Given the description of an element on the screen output the (x, y) to click on. 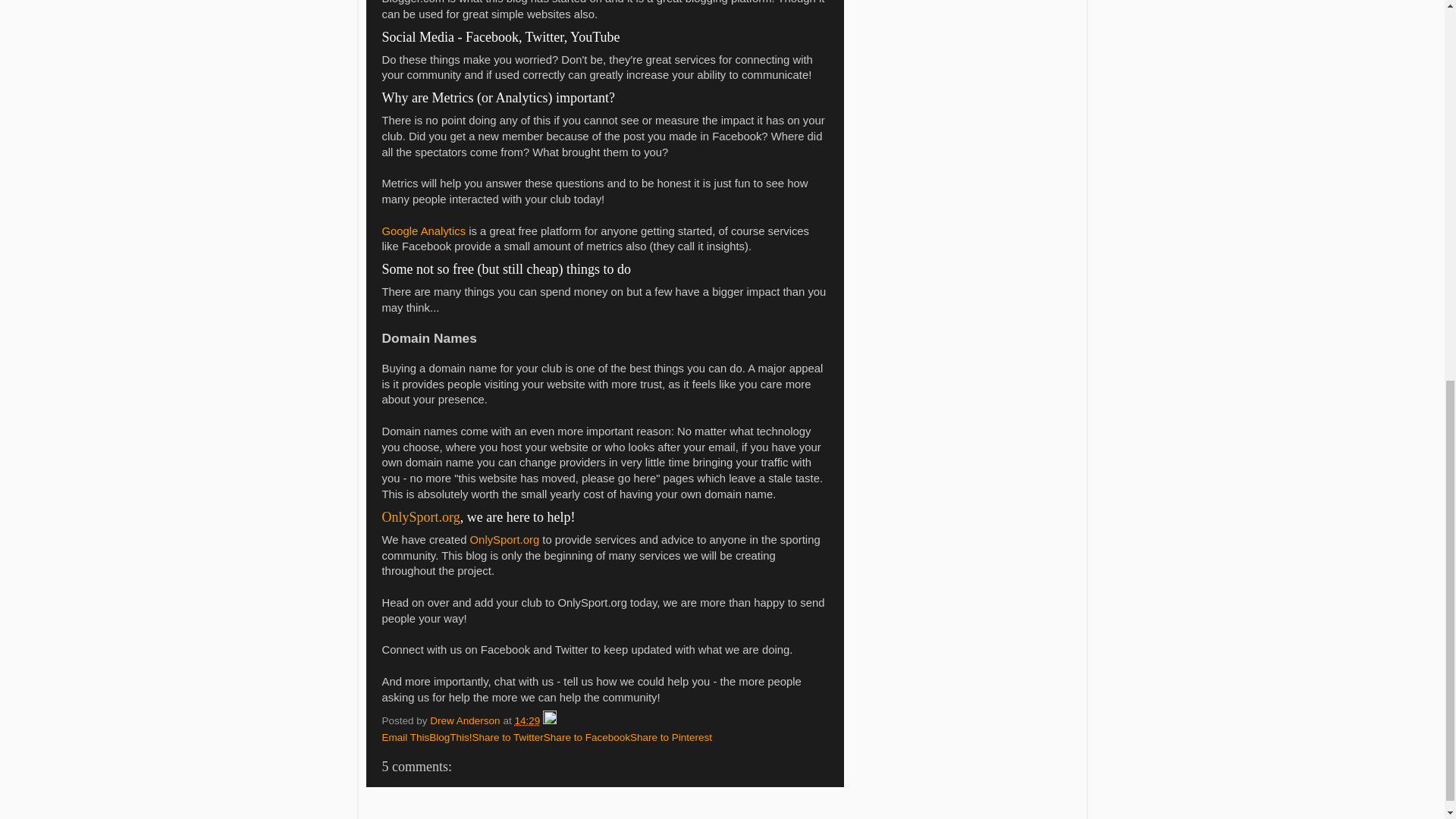
BlogThis! (450, 737)
Share to Facebook (586, 737)
Edit Post (549, 720)
14:29 (526, 720)
permanent link (526, 720)
Email This (405, 737)
Email This (405, 737)
OnlySport.org (420, 516)
Share to Facebook (586, 737)
Share to Twitter (507, 737)
Share to Pinterest (670, 737)
Drew Anderson (465, 720)
Share to Pinterest (670, 737)
Google Analytics (423, 231)
author profile (465, 720)
